Given the description of an element on the screen output the (x, y) to click on. 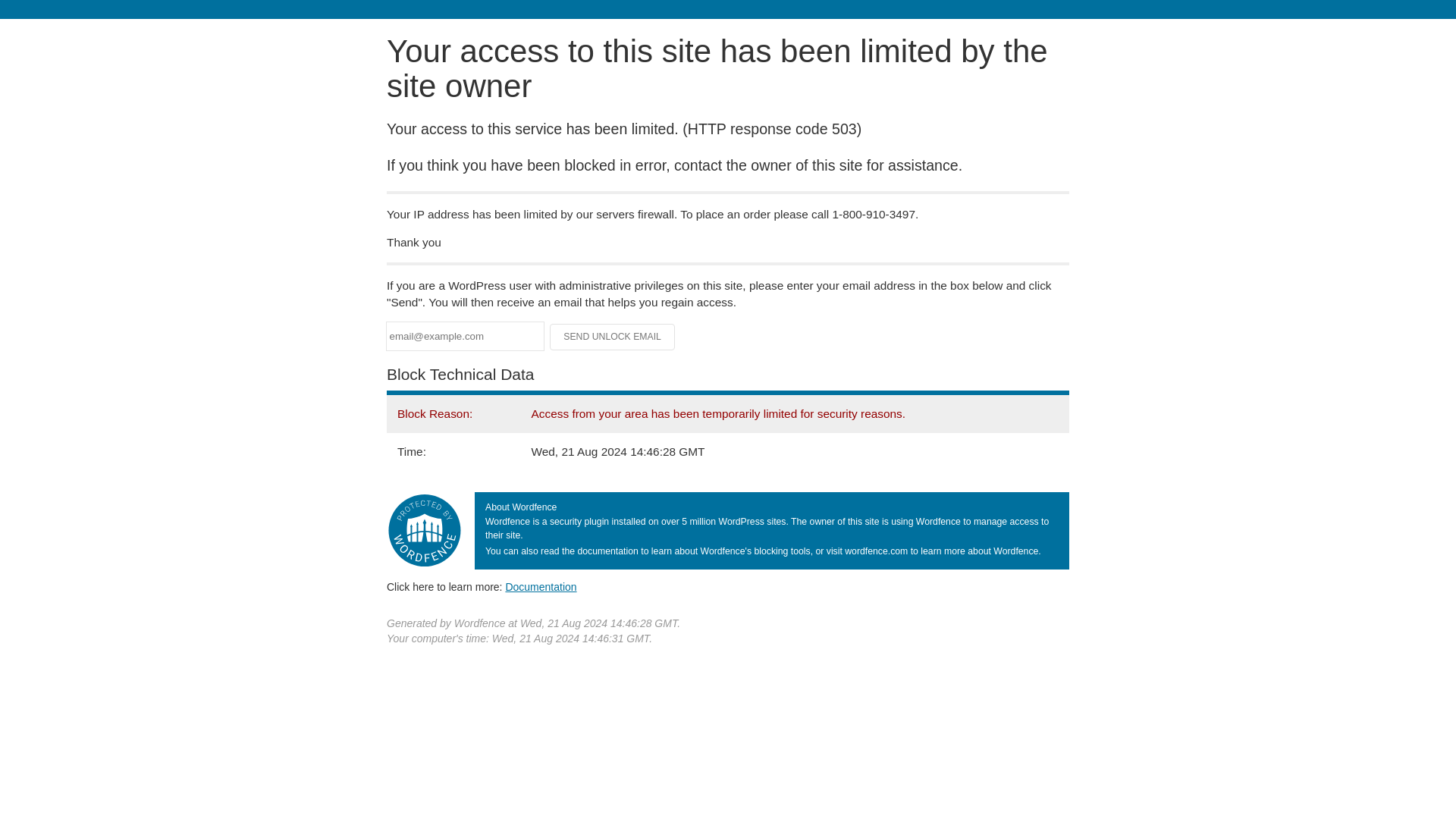
Documentation (540, 586)
Send Unlock Email (612, 336)
Send Unlock Email (612, 336)
